Given the description of an element on the screen output the (x, y) to click on. 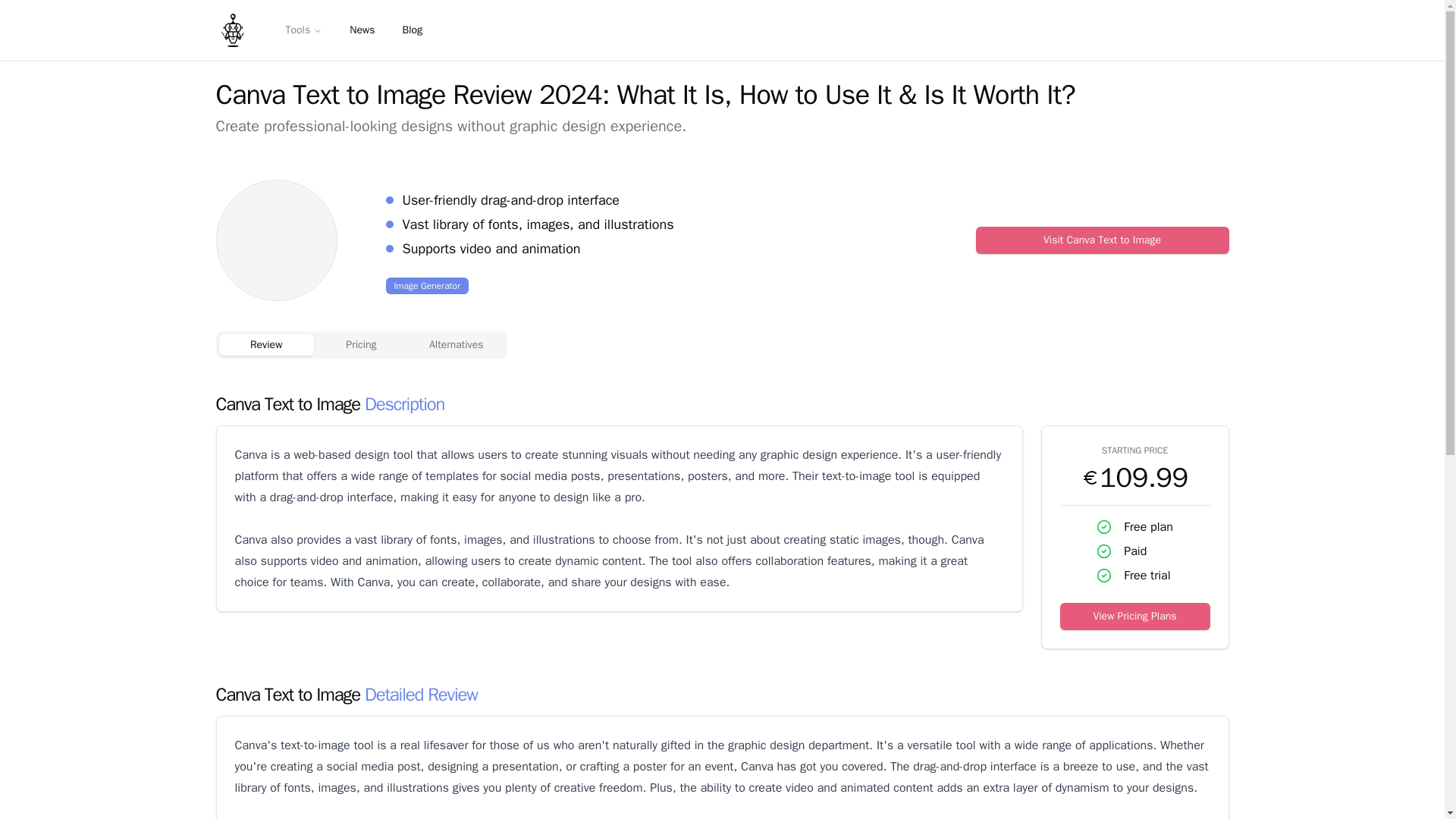
Tools (303, 30)
Alternatives (456, 344)
Visit Canva Text to Image (1101, 239)
Image Generator (426, 285)
Review (265, 344)
Pricing (361, 344)
Blog (411, 30)
News (362, 30)
View Pricing Plans (1134, 615)
